Given the description of an element on the screen output the (x, y) to click on. 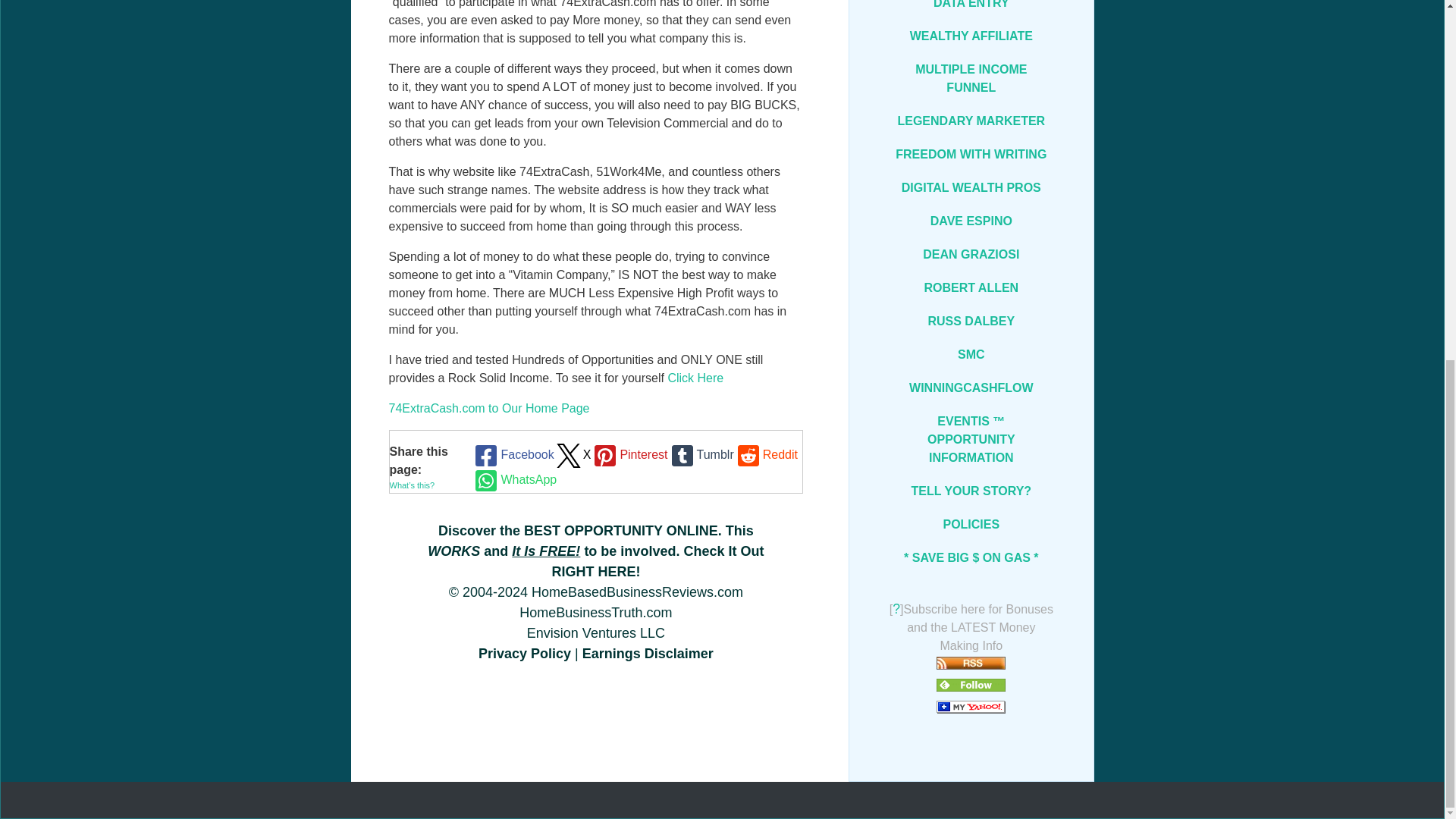
Reddit (765, 455)
Pinterest (628, 455)
ROBERT ALLEN (970, 287)
DIGITAL WEALTH PROS (970, 187)
MULTIPLE INCOME FUNNEL (970, 78)
DEAN GRAZIOSI (970, 254)
X (572, 455)
Tumblr (700, 455)
DATA ENTRY (970, 9)
? (895, 608)
POLICIES (970, 524)
DAVE ESPINO (970, 221)
74ExtraCash.com to Our Home Page (488, 408)
Click Here (694, 377)
SMC (970, 354)
